Given the description of an element on the screen output the (x, y) to click on. 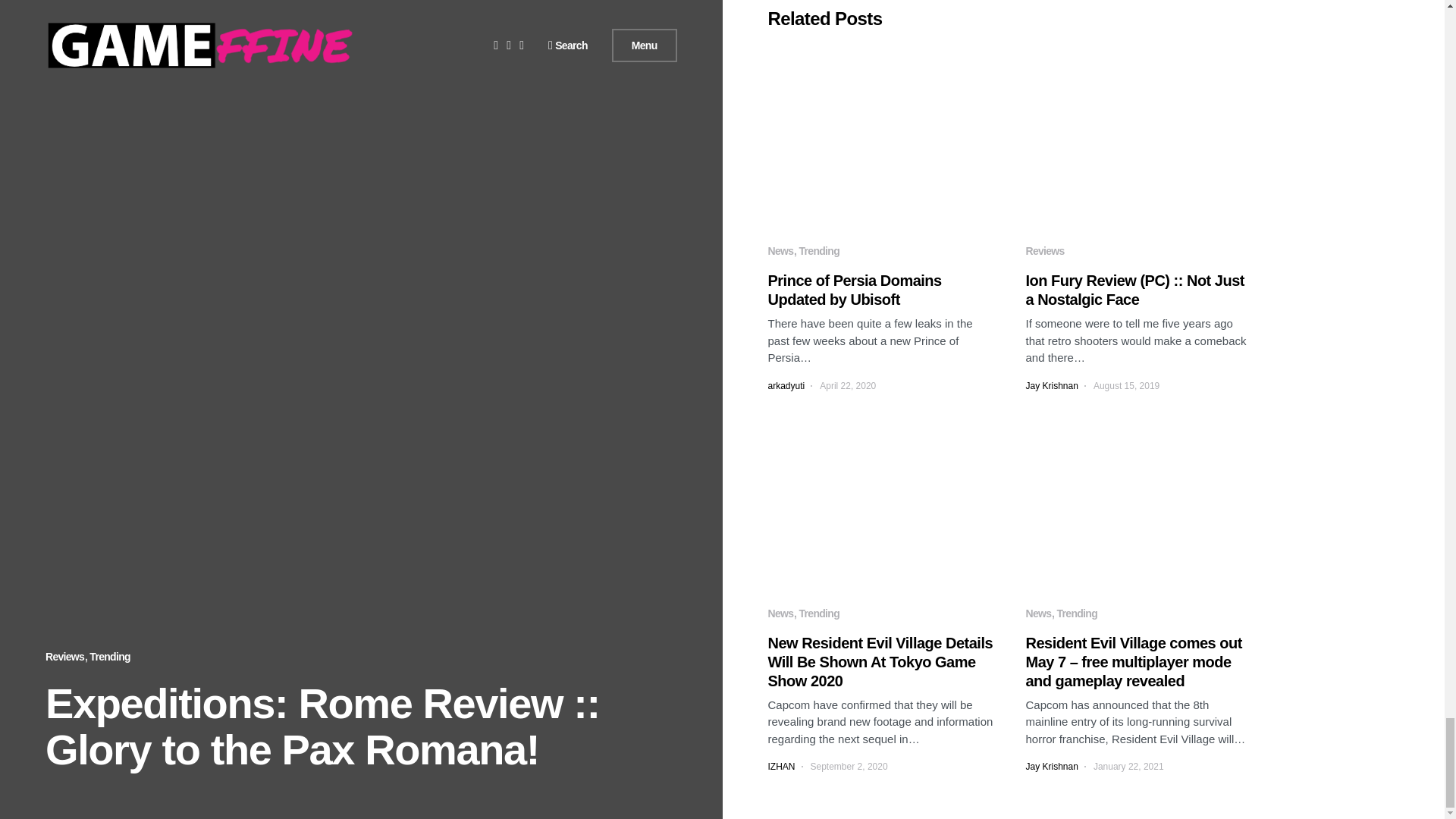
View all posts by Jay Krishnan (1051, 766)
View all posts by IZHAN (780, 766)
View all posts by arkadyuti (786, 386)
View all posts by Jay Krishnan (1051, 386)
